Given the description of an element on the screen output the (x, y) to click on. 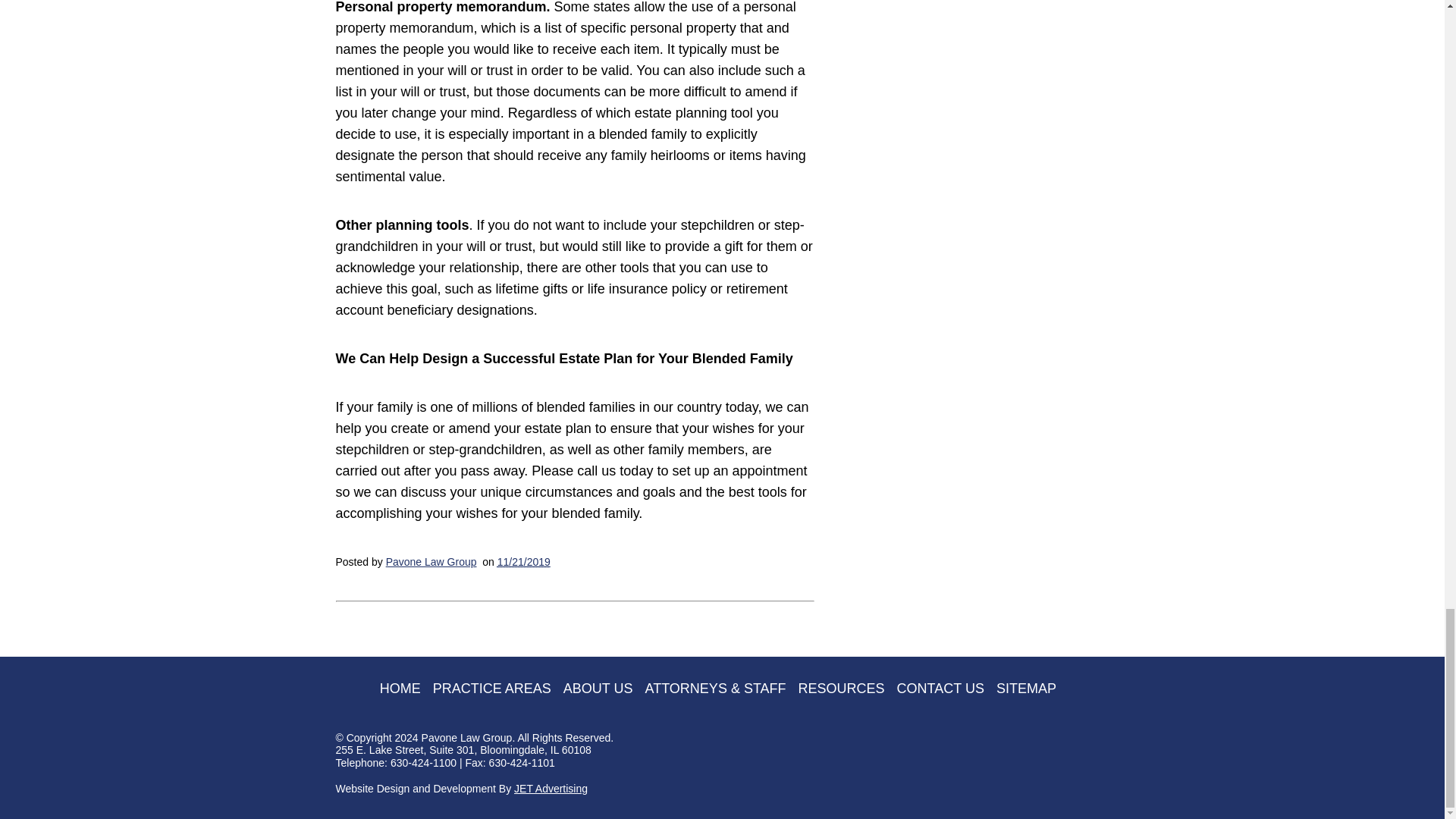
author profile (431, 562)
permanent link (523, 562)
